Given the description of an element on the screen output the (x, y) to click on. 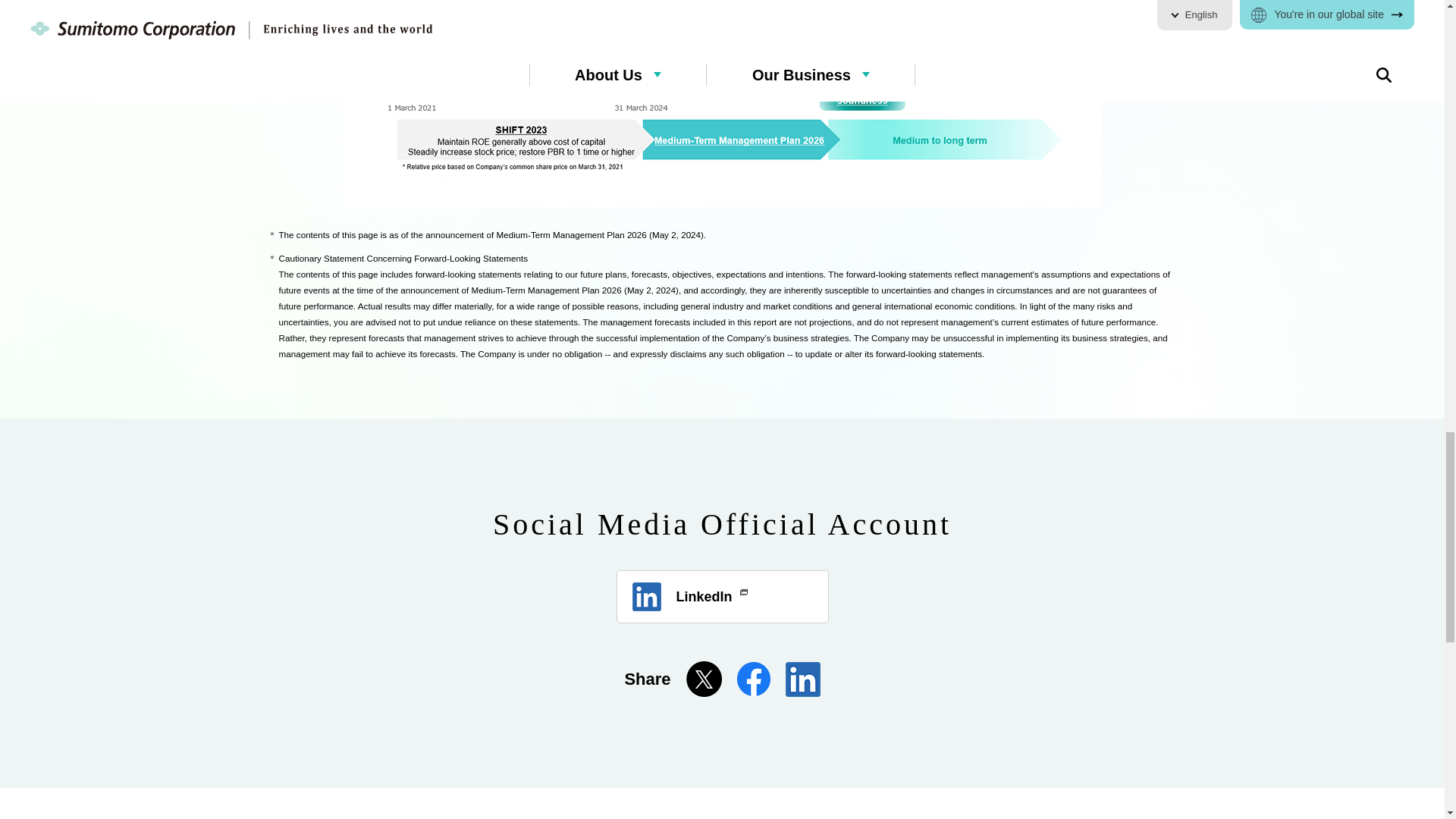
LinkedIn (721, 596)
